Given the description of an element on the screen output the (x, y) to click on. 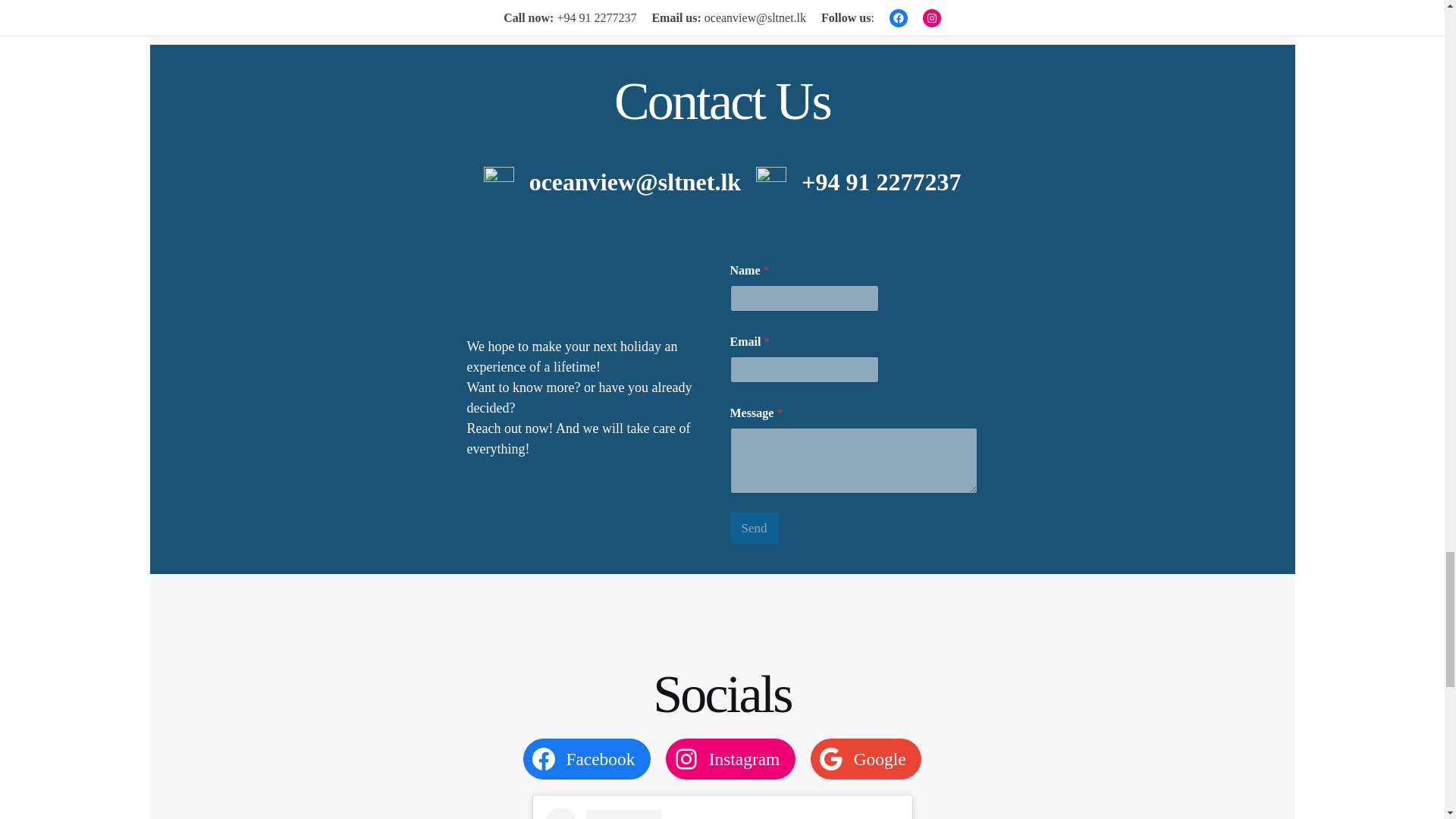
Send (753, 527)
Facebook (586, 758)
Google (865, 758)
Instagram (729, 758)
View this post on Instagram (721, 813)
